Given the description of an element on the screen output the (x, y) to click on. 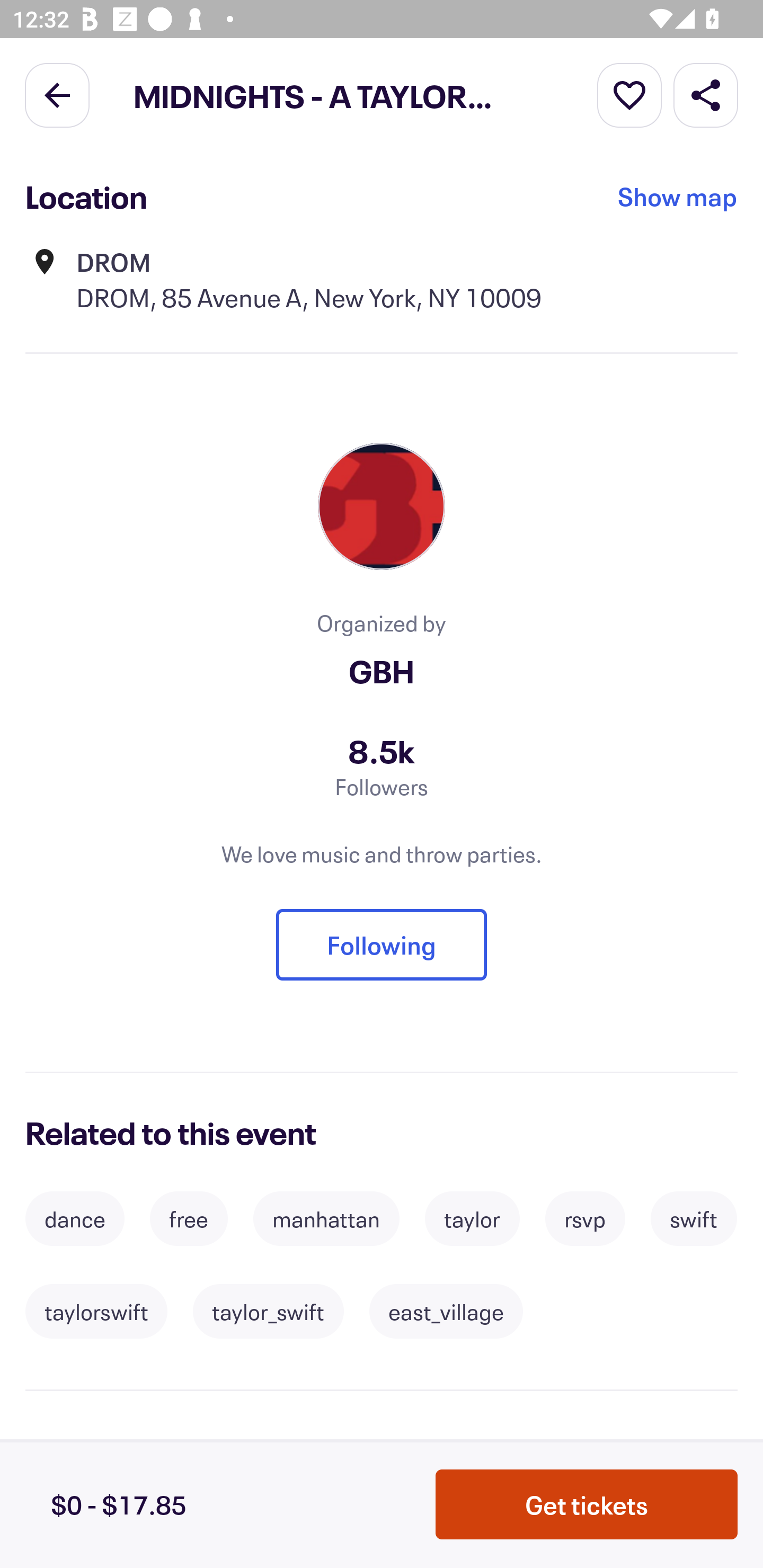
Back (57, 94)
More (629, 94)
Share (705, 94)
Show map (677, 196)
Organizer profile picture (381, 506)
GBH (381, 670)
Following (381, 944)
dance (74, 1218)
free (189, 1218)
manhattan (326, 1218)
taylor (471, 1218)
rsvp (584, 1218)
swift (693, 1218)
taylorswift (96, 1311)
taylor_swift (268, 1311)
east_village (445, 1311)
Get tickets (586, 1504)
